Given the description of an element on the screen output the (x, y) to click on. 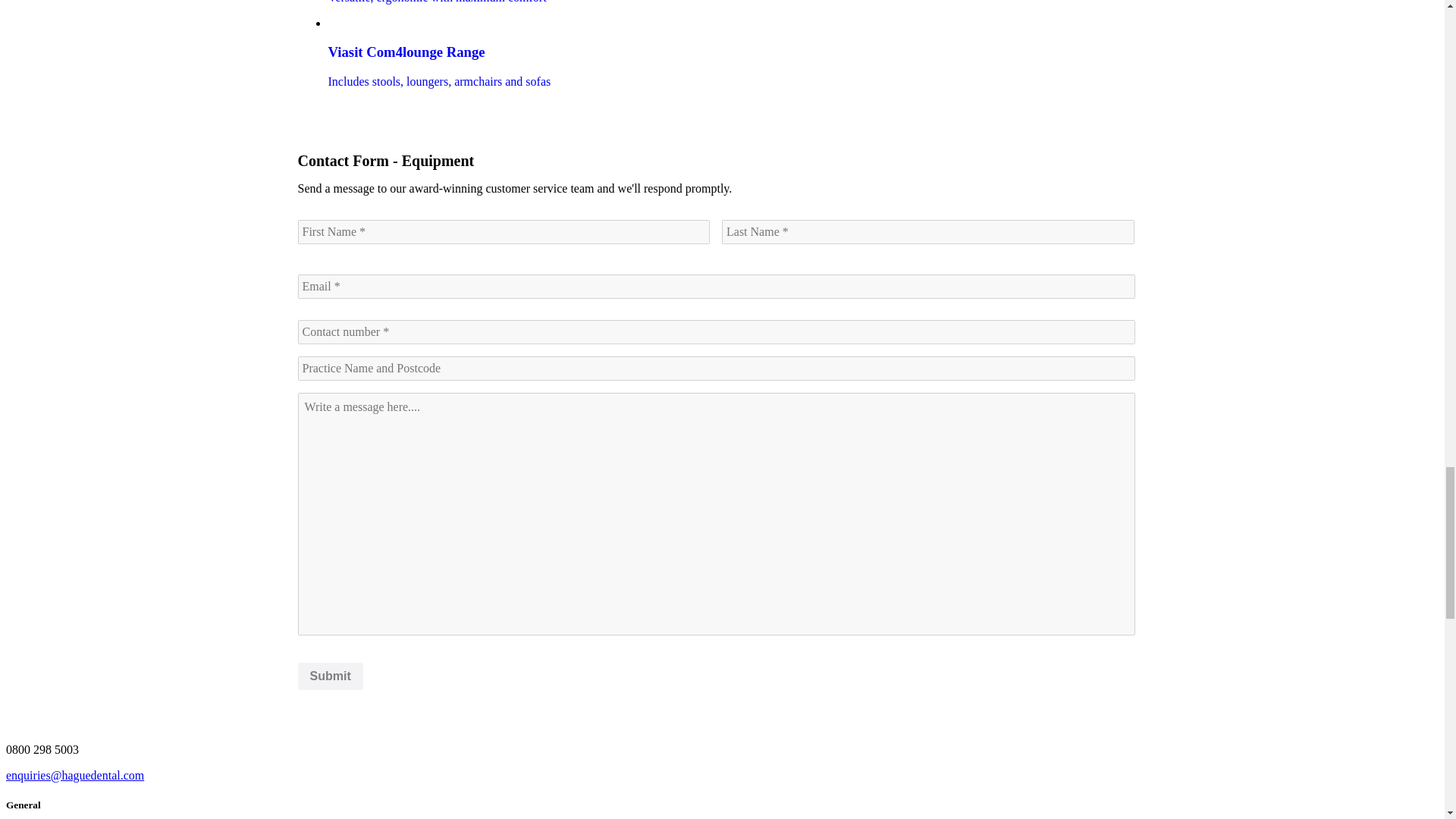
Submit (329, 676)
